Given the description of an element on the screen output the (x, y) to click on. 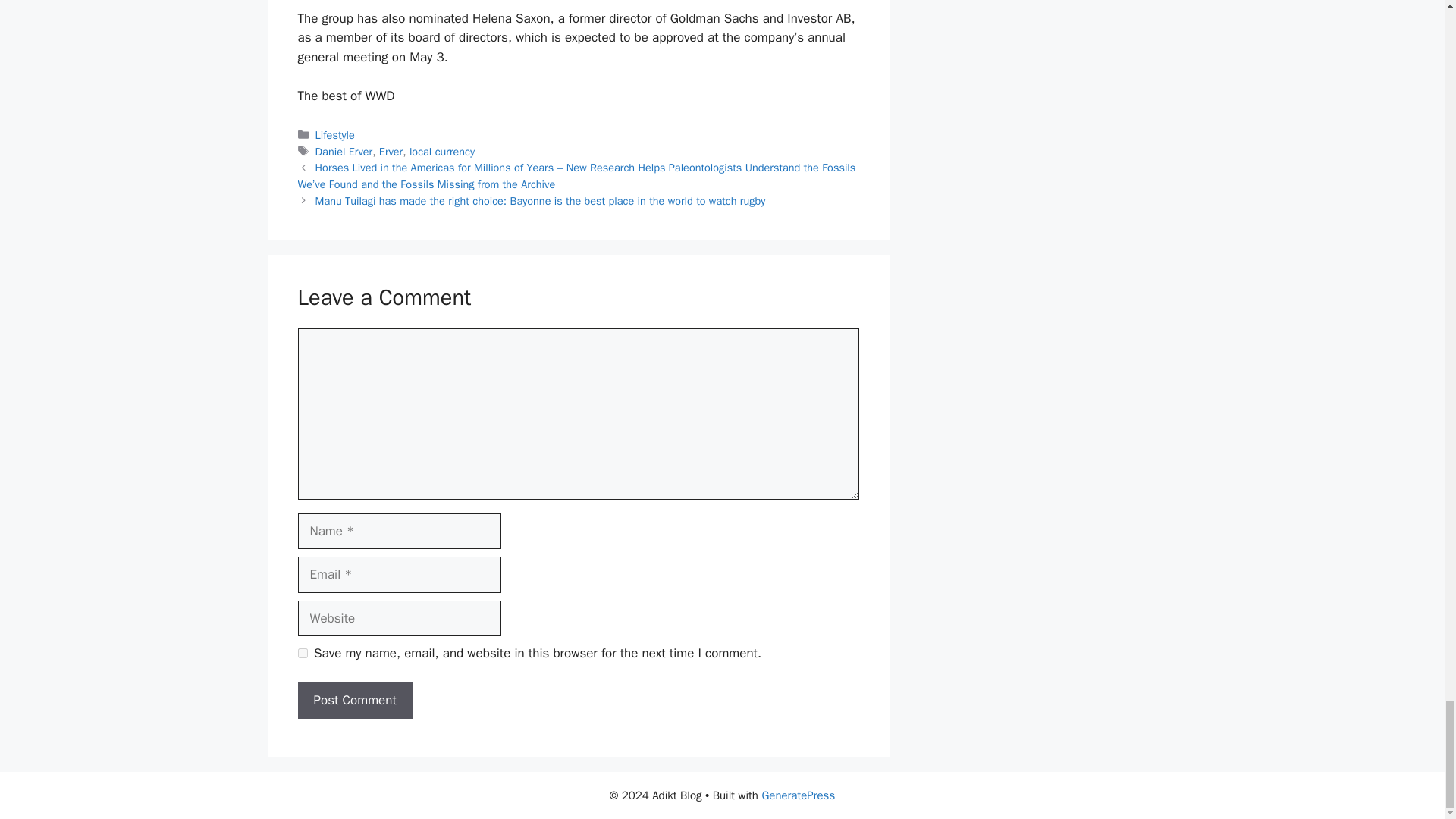
Post Comment (354, 700)
Daniel Erver (343, 151)
Post Comment (354, 700)
local currency (441, 151)
Erver (390, 151)
yes (302, 653)
Lifestyle (335, 134)
